Given the description of an element on the screen output the (x, y) to click on. 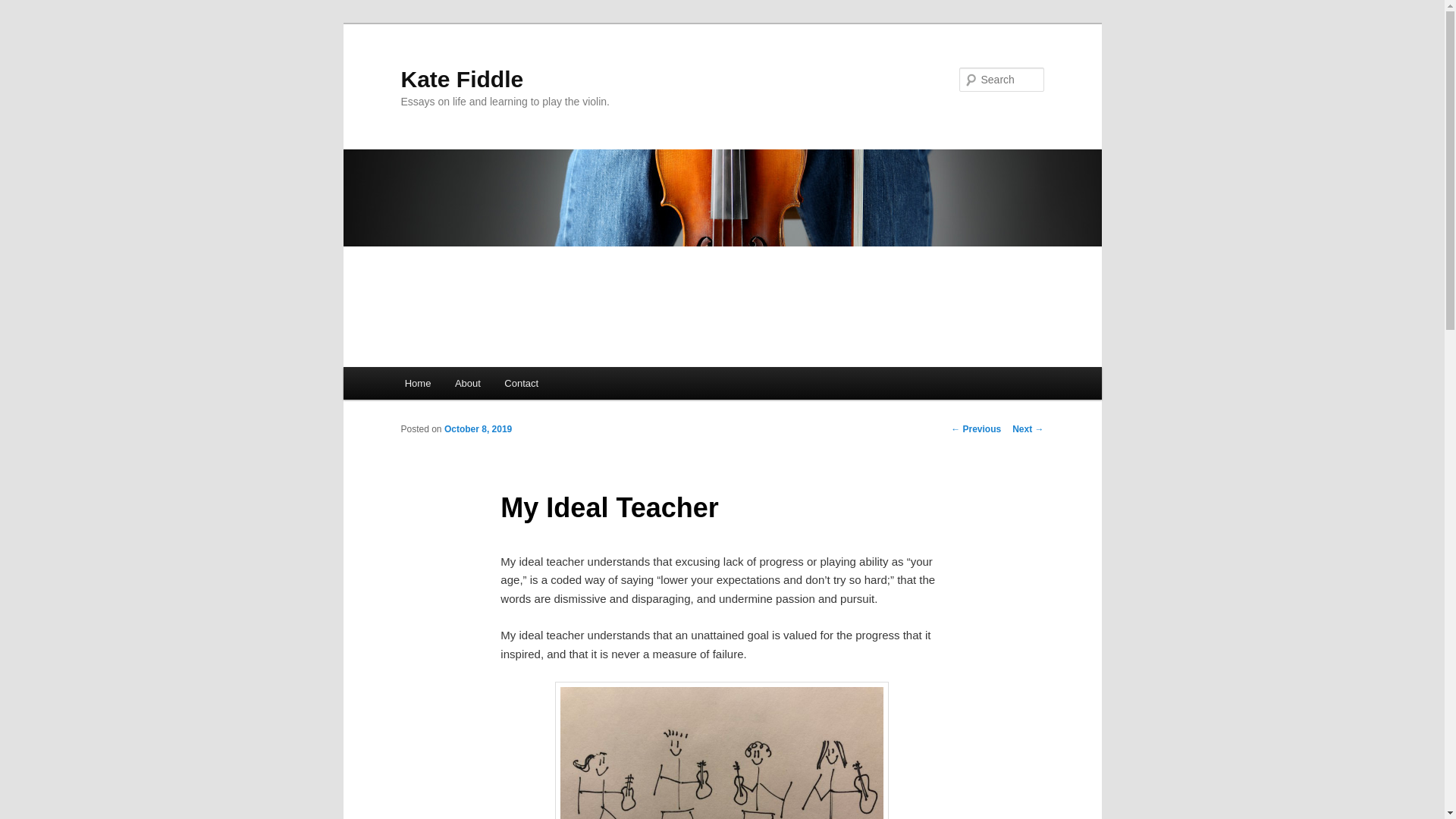
About (467, 382)
Home (417, 382)
Contact (521, 382)
October 8, 2019 (478, 429)
Kate Fiddle (461, 78)
10:35 pm (478, 429)
Search (24, 8)
